Given the description of an element on the screen output the (x, y) to click on. 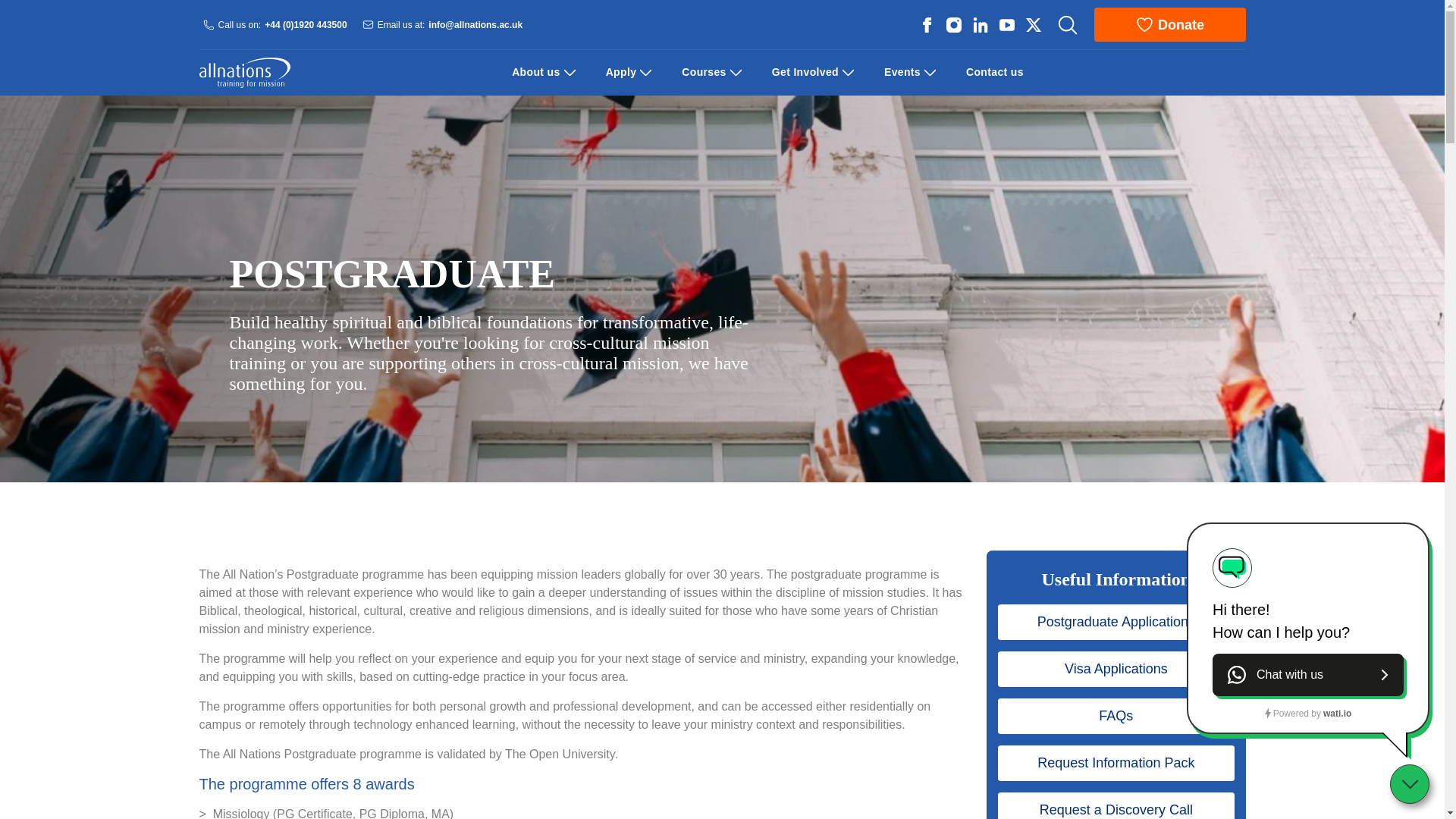
Apply (621, 72)
All Nations strings.on Twitter (1033, 24)
All Nations strings.on Linkedin (980, 24)
All Nations strings.on Youtube (1005, 24)
Donate (1168, 24)
All Nations strings.on Instagram (952, 24)
All Nations strings.on Facebook (927, 24)
About us (535, 72)
WhatsApp (1307, 674)
Navigate to All Nations Home (244, 72)
